Given the description of an element on the screen output the (x, y) to click on. 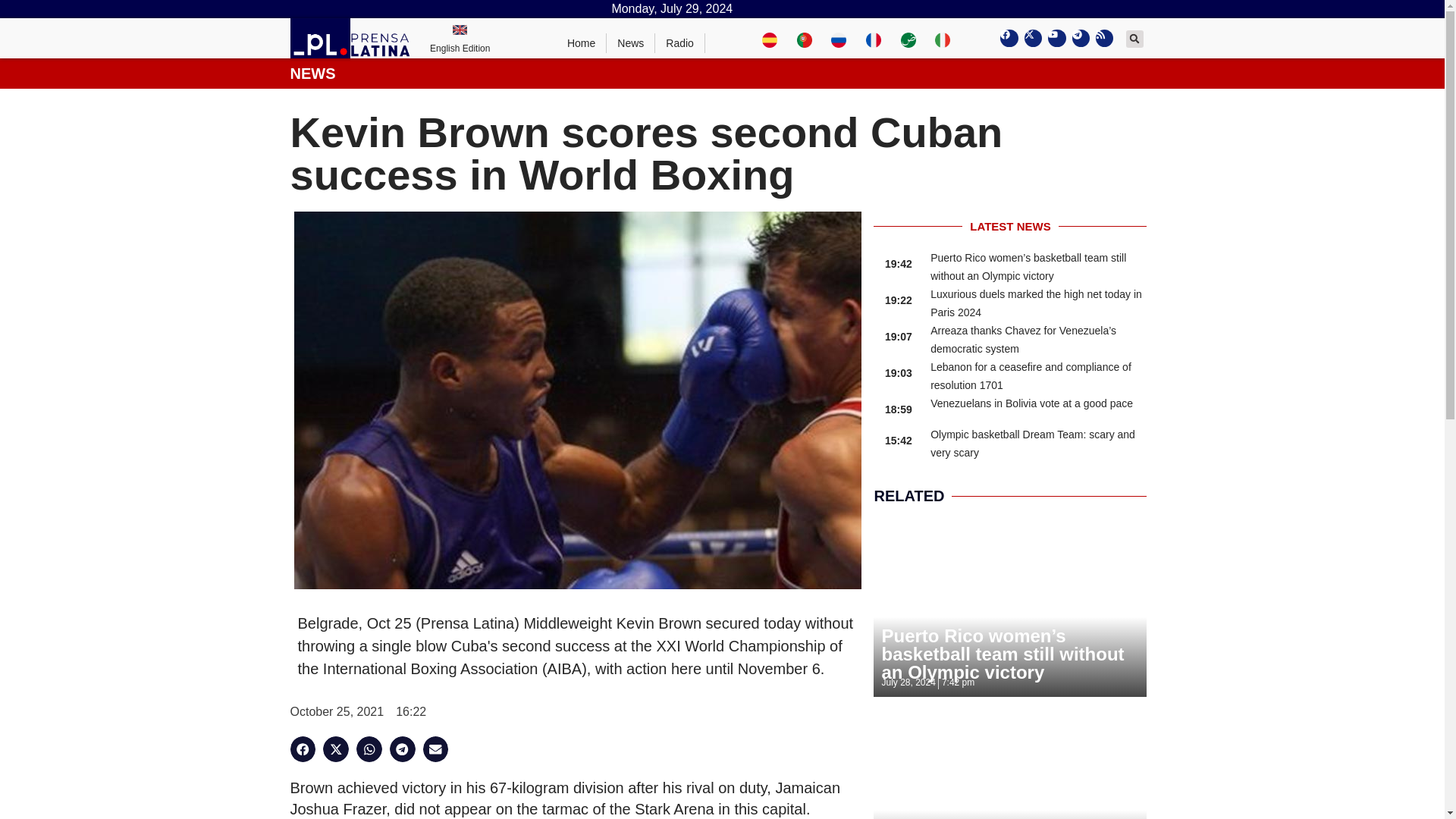
Home (581, 43)
italia (942, 38)
Lebanon for a ceasefire and compliance of resolution 1701 (1030, 376)
Venezuelans in Bolivia vote at a good pace (1031, 403)
Arabic lang (908, 38)
October 25, 2021 (336, 711)
portugues (804, 38)
Radio (679, 43)
francia (873, 38)
Luxurious duels marked the high net today in Paris 2024 (1035, 303)
rusia (838, 38)
News (631, 43)
Olympic basketball Dream Team: scary and very scary (1032, 443)
July 28, 2024 (907, 682)
